Given the description of an element on the screen output the (x, y) to click on. 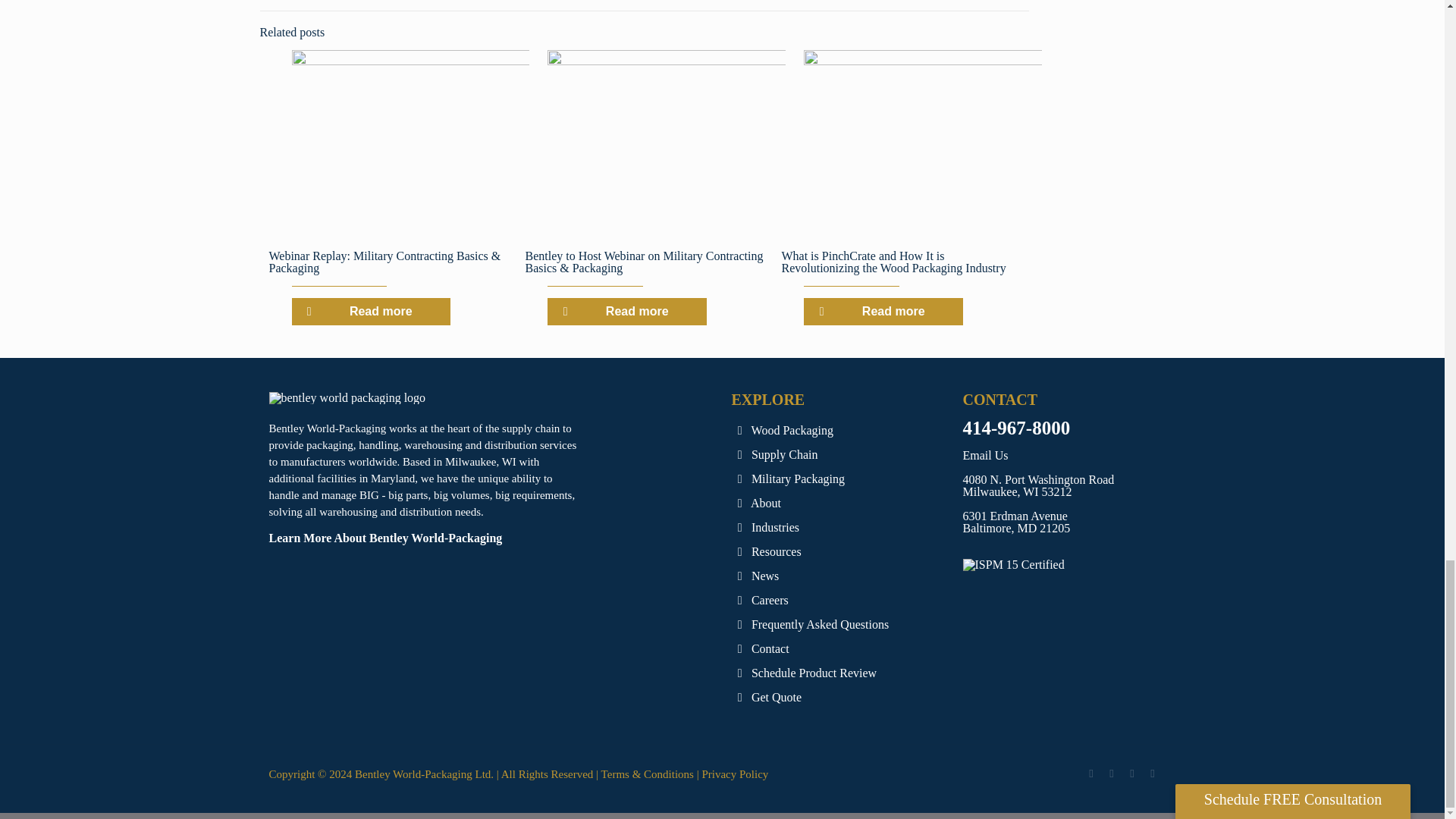
Facebook (1091, 773)
Twitter (1111, 773)
YouTube (1132, 773)
LinkedIn (1152, 773)
